Given the description of an element on the screen output the (x, y) to click on. 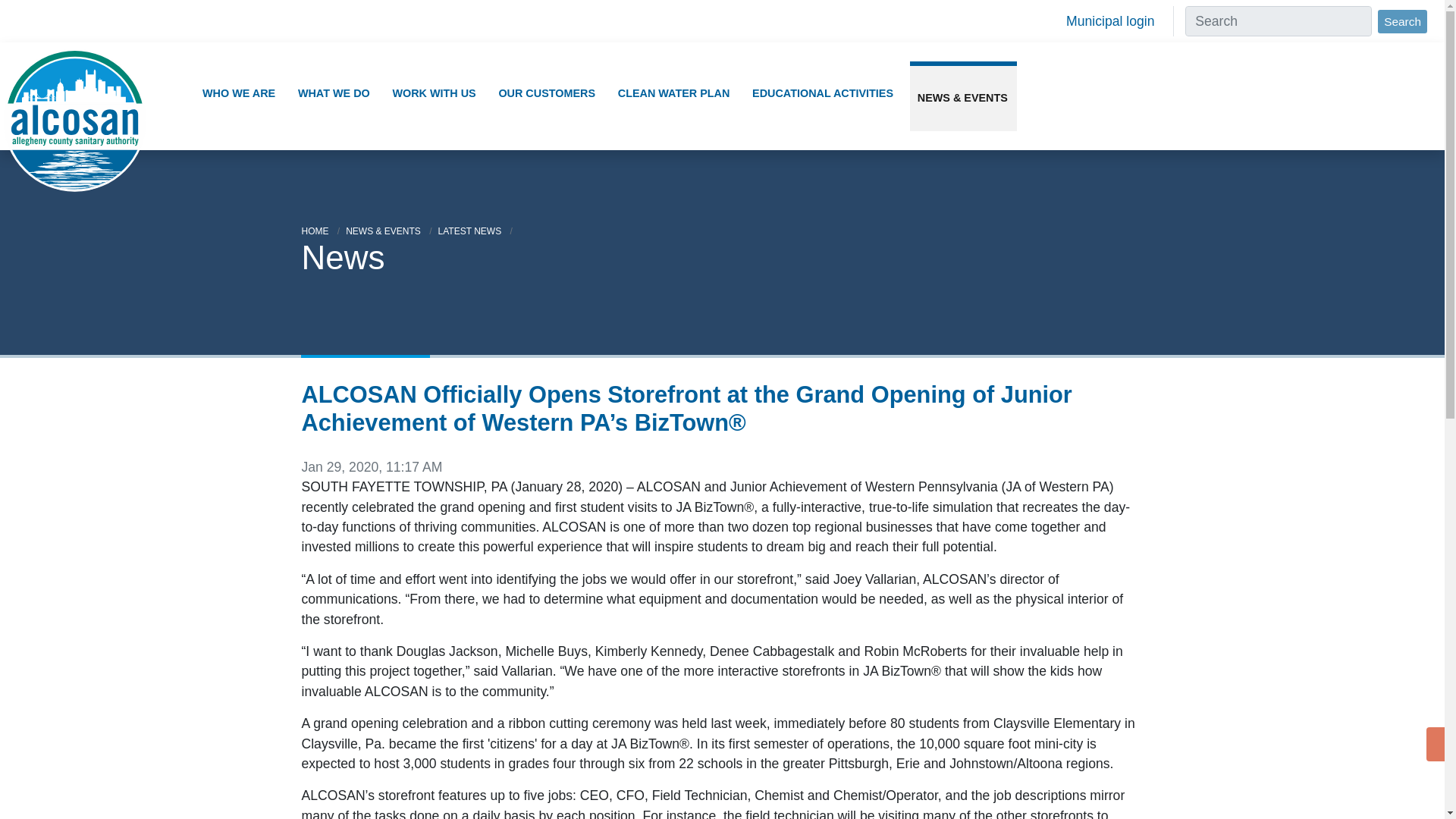
WHAT WE DO (335, 93)
OUR CUSTOMERS (548, 93)
WHO WE ARE (239, 93)
Search input (1278, 20)
WORK WITH US (434, 93)
Search (1401, 21)
Municipal login (1109, 20)
CLEAN WATER PLAN (674, 93)
ALCOSAN (74, 95)
